Given the description of an element on the screen output the (x, y) to click on. 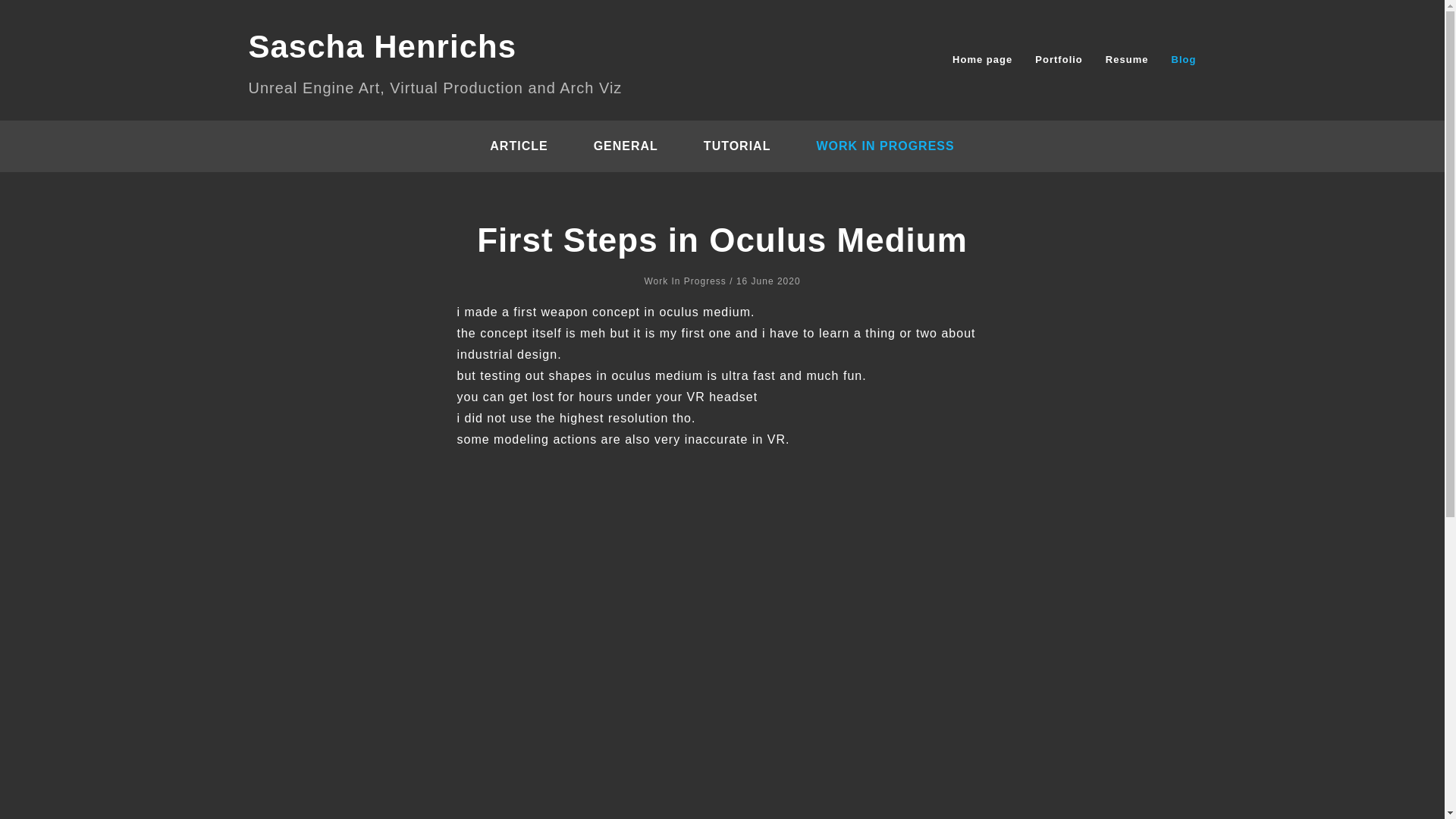
Work In Progress (684, 281)
Resume (1126, 59)
ARTICLE (518, 145)
TUTORIAL (737, 145)
Sascha Henrichs (382, 46)
Home page (981, 59)
Blog (1184, 59)
Portfolio (1059, 59)
GENERAL (626, 145)
WORK IN PROGRESS (884, 145)
